Given the description of an element on the screen output the (x, y) to click on. 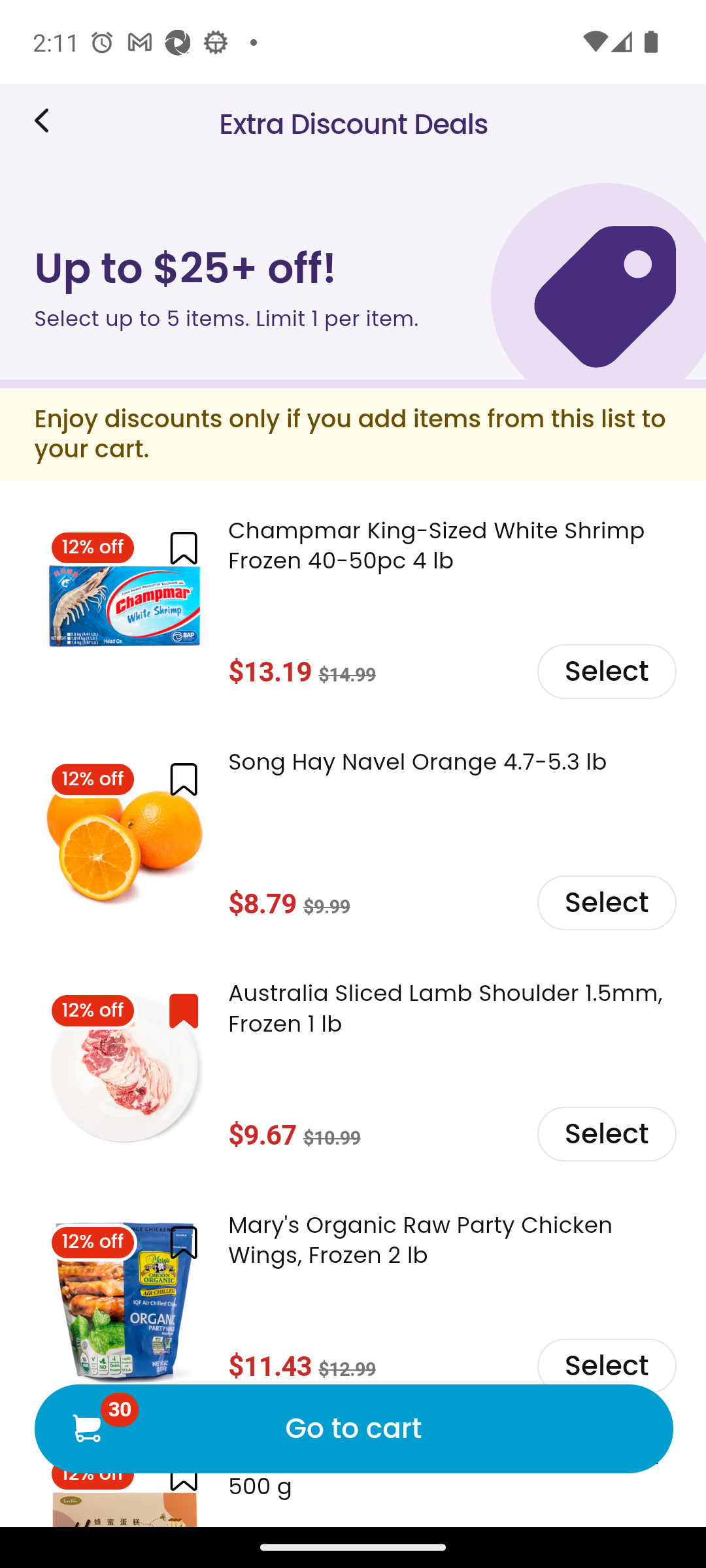
Weee! - Groceries Delivered (47, 119)
 (182, 548)
Select (606, 670)
 (182, 778)
Select (606, 901)
 (182, 1010)
Select (606, 1133)
 (182, 1242)
Select (606, 1364)
30  (86, 1427)
